Given the description of an element on the screen output the (x, y) to click on. 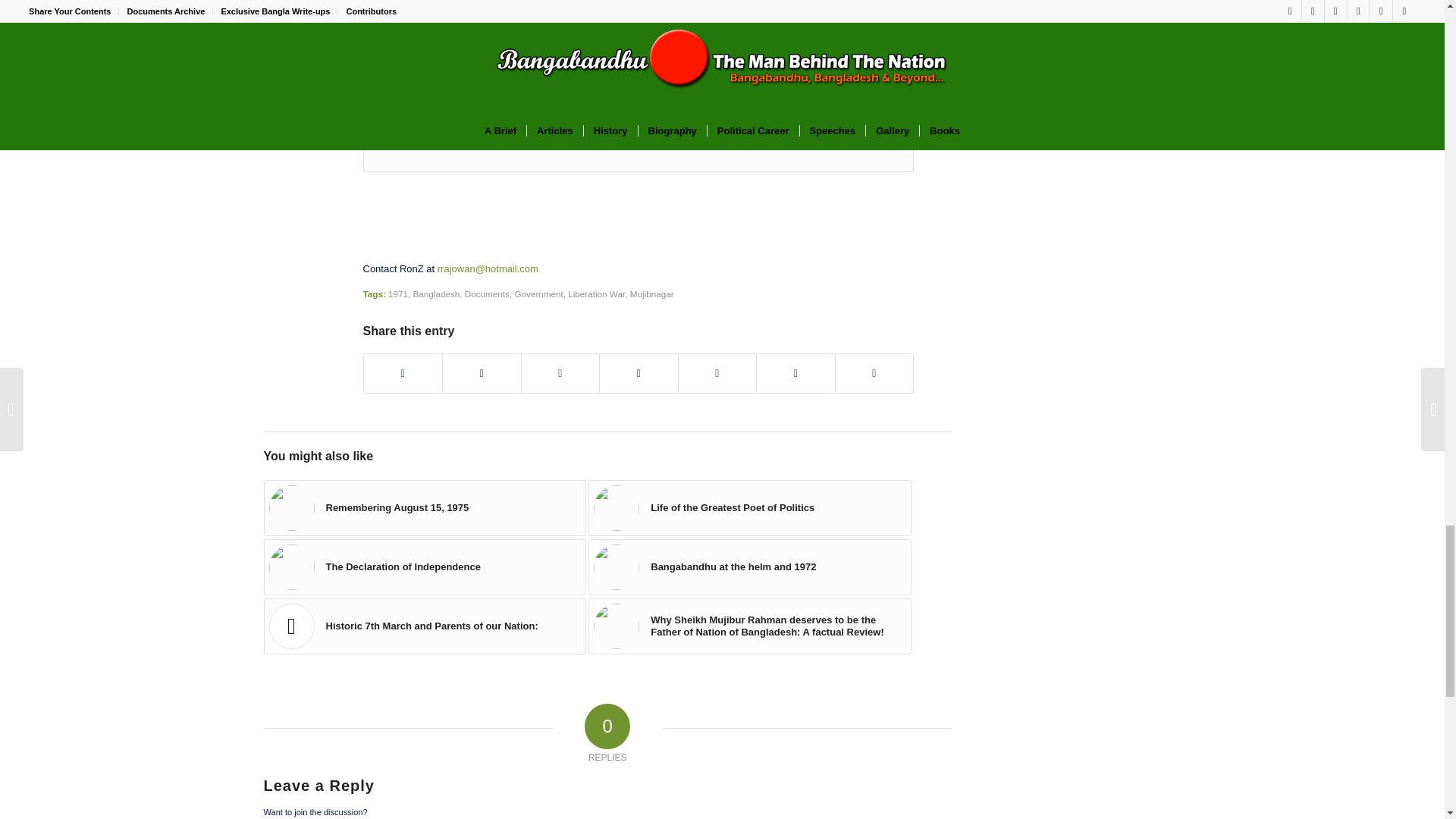
mujibnagar (427, 70)
Government (537, 293)
Liberation War (595, 293)
Mujibnagar (652, 293)
Bangladesh (436, 293)
Documents (486, 293)
1971 (397, 293)
